Given the description of an element on the screen output the (x, y) to click on. 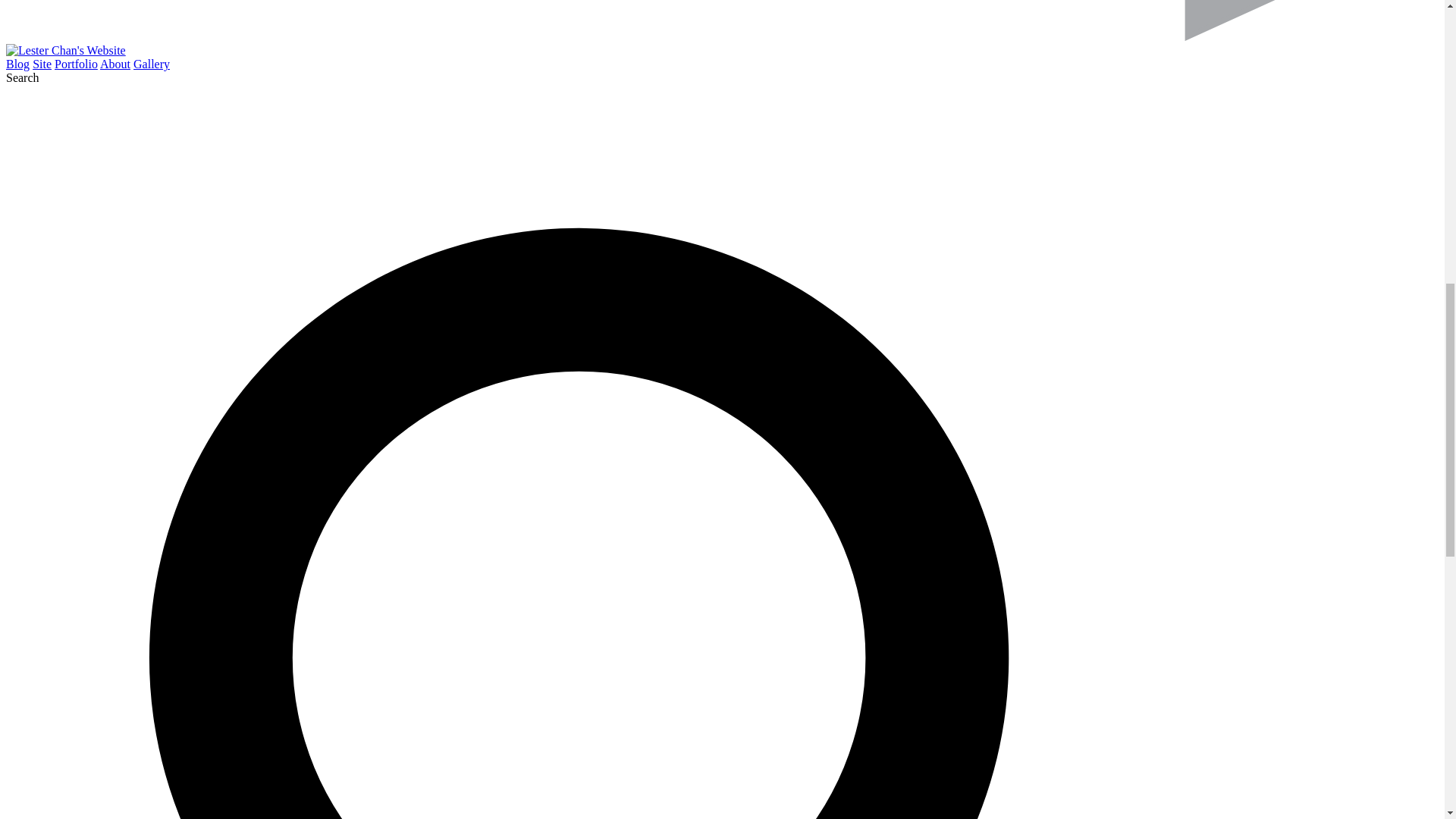
Lester Chan's Website (65, 50)
Site (41, 63)
Gallery (151, 63)
About (115, 63)
Portfolio (76, 63)
Blog (17, 63)
